Given the description of an element on the screen output the (x, y) to click on. 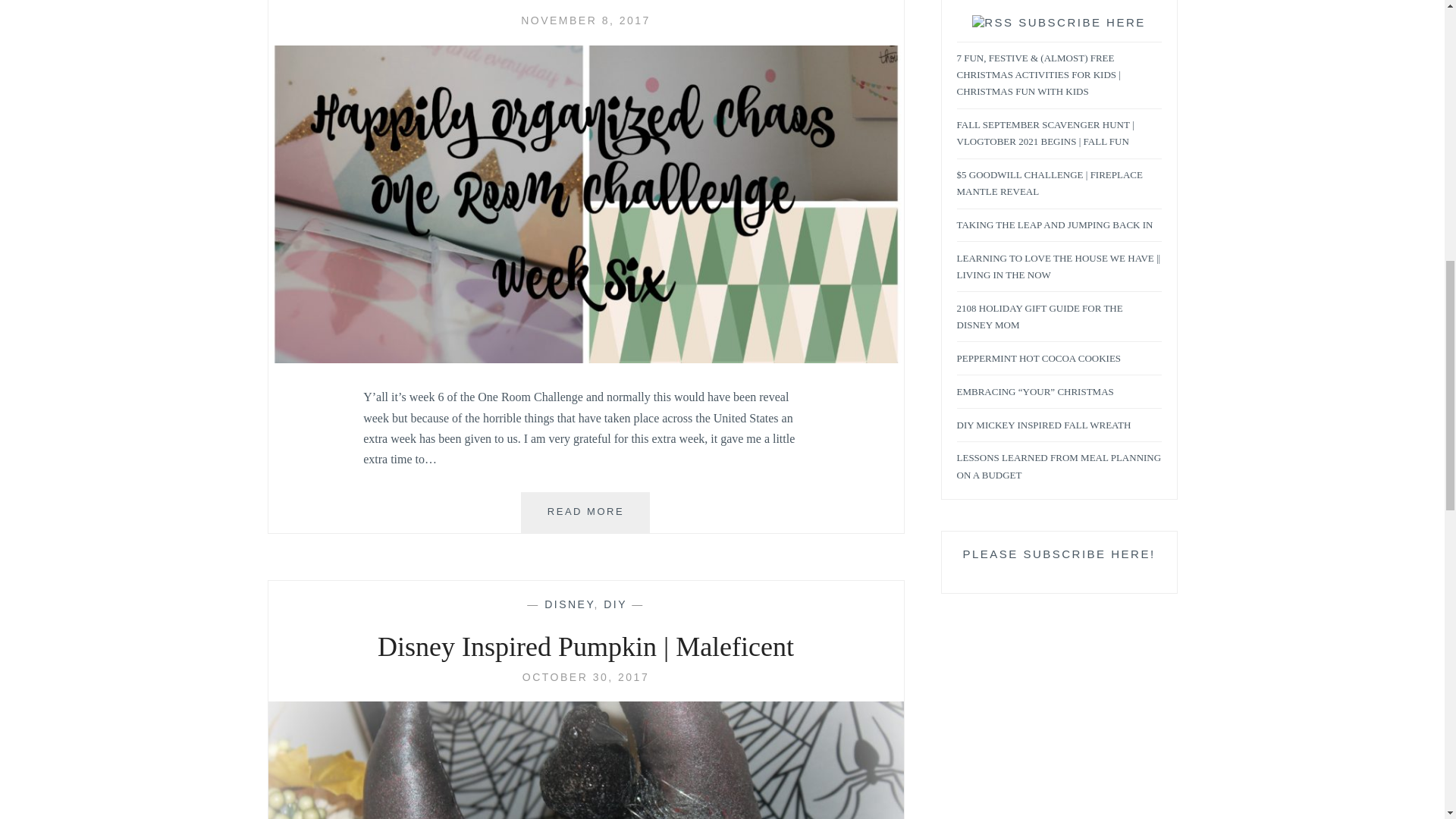
DIY (615, 604)
One Room Challenge Week 6: So many things, so little time! (584, 3)
OCTOBER 30, 2017 (585, 676)
One Room Challenge Week 6: So many things, so little time! (585, 20)
One Room Challenge Week 6: So many things, so little time! (585, 358)
DISNEY (569, 604)
TAKING THE LEAP AND JUMPING BACK IN (1054, 225)
NOVEMBER 8, 2017 (585, 20)
SUBSCRIBE HERE (1081, 22)
